Given the description of an element on the screen output the (x, y) to click on. 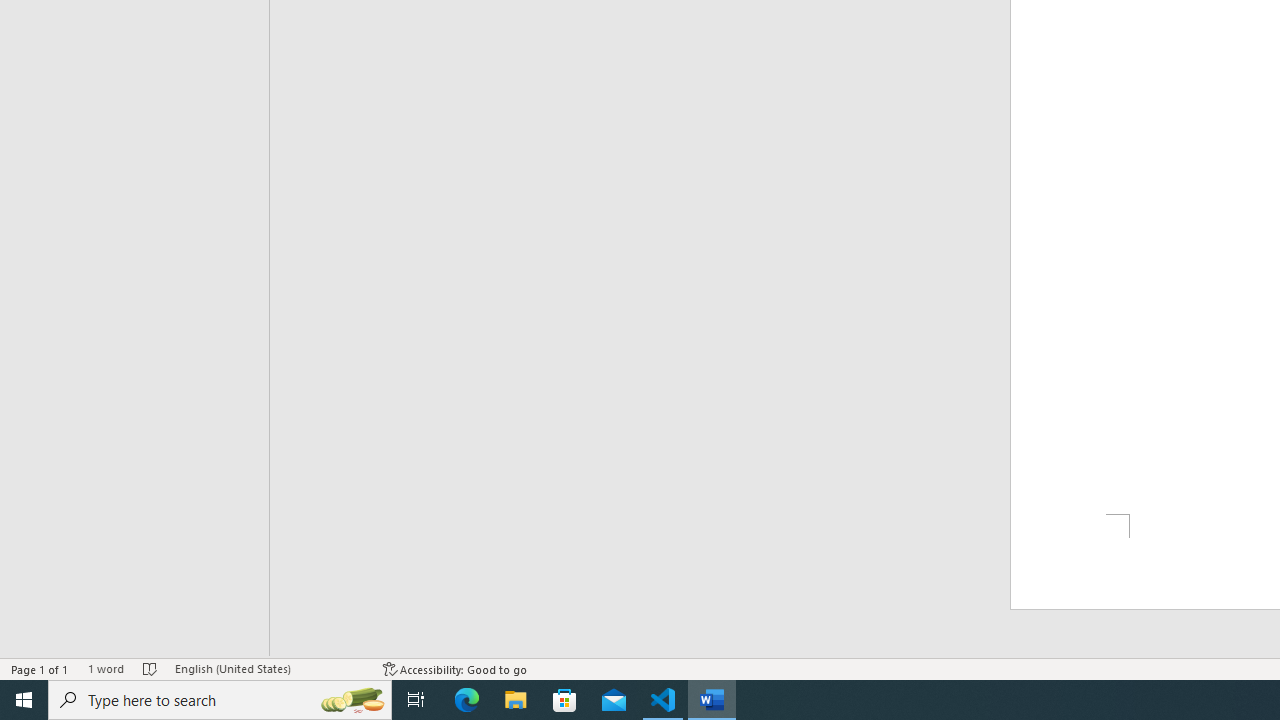
Page Number Page 1 of 1 (39, 668)
Spelling and Grammar Check No Errors (150, 668)
